Given the description of an element on the screen output the (x, y) to click on. 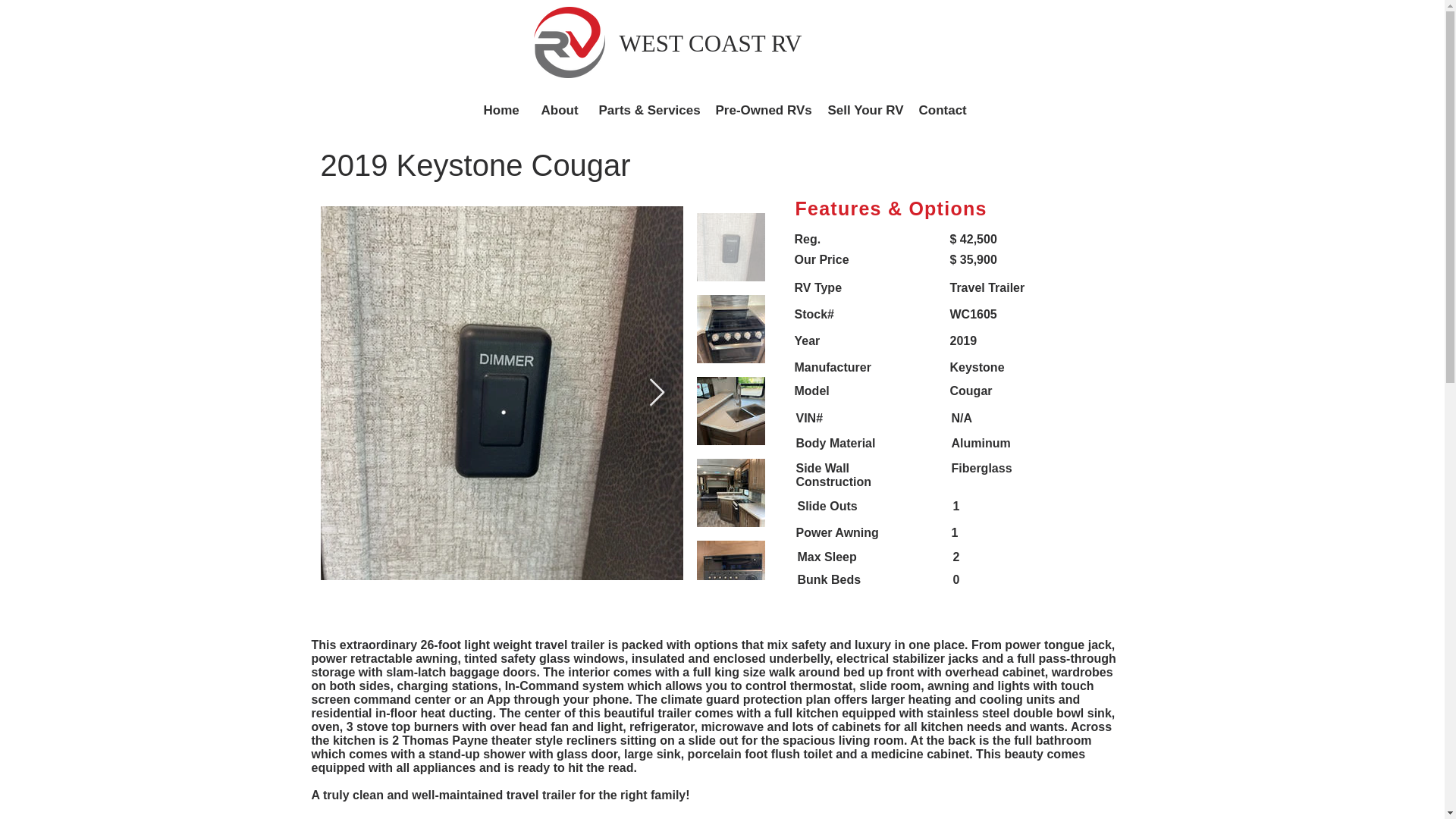
Contact (941, 109)
Home (500, 109)
Sell Your RV (861, 109)
Pre-Owned RVs (759, 109)
About (557, 109)
